Given the description of an element on the screen output the (x, y) to click on. 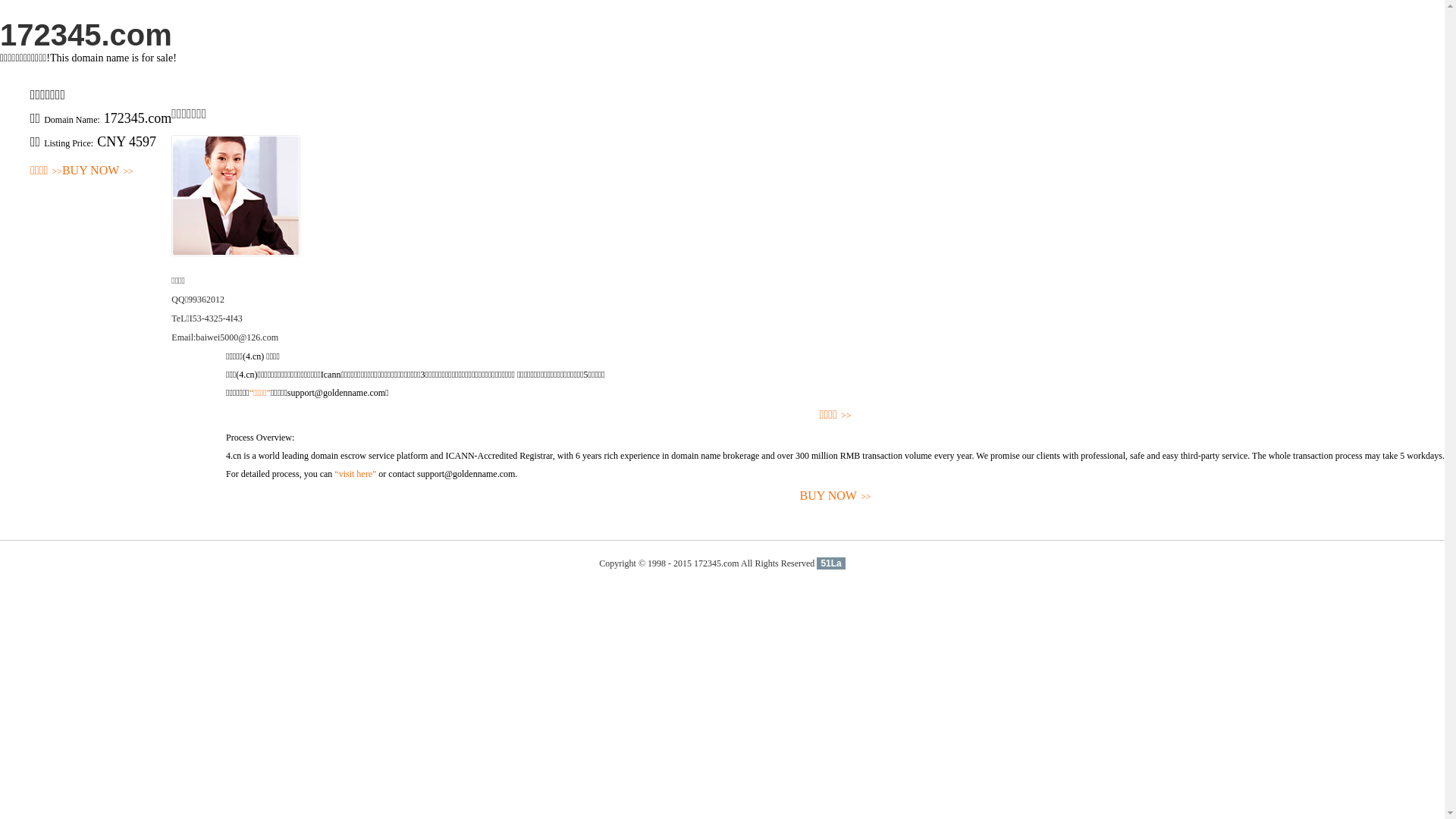
BUY NOW>> Element type: text (834, 496)
BUY NOW>> Element type: text (97, 170)
51La Element type: text (830, 563)
